Given the description of an element on the screen output the (x, y) to click on. 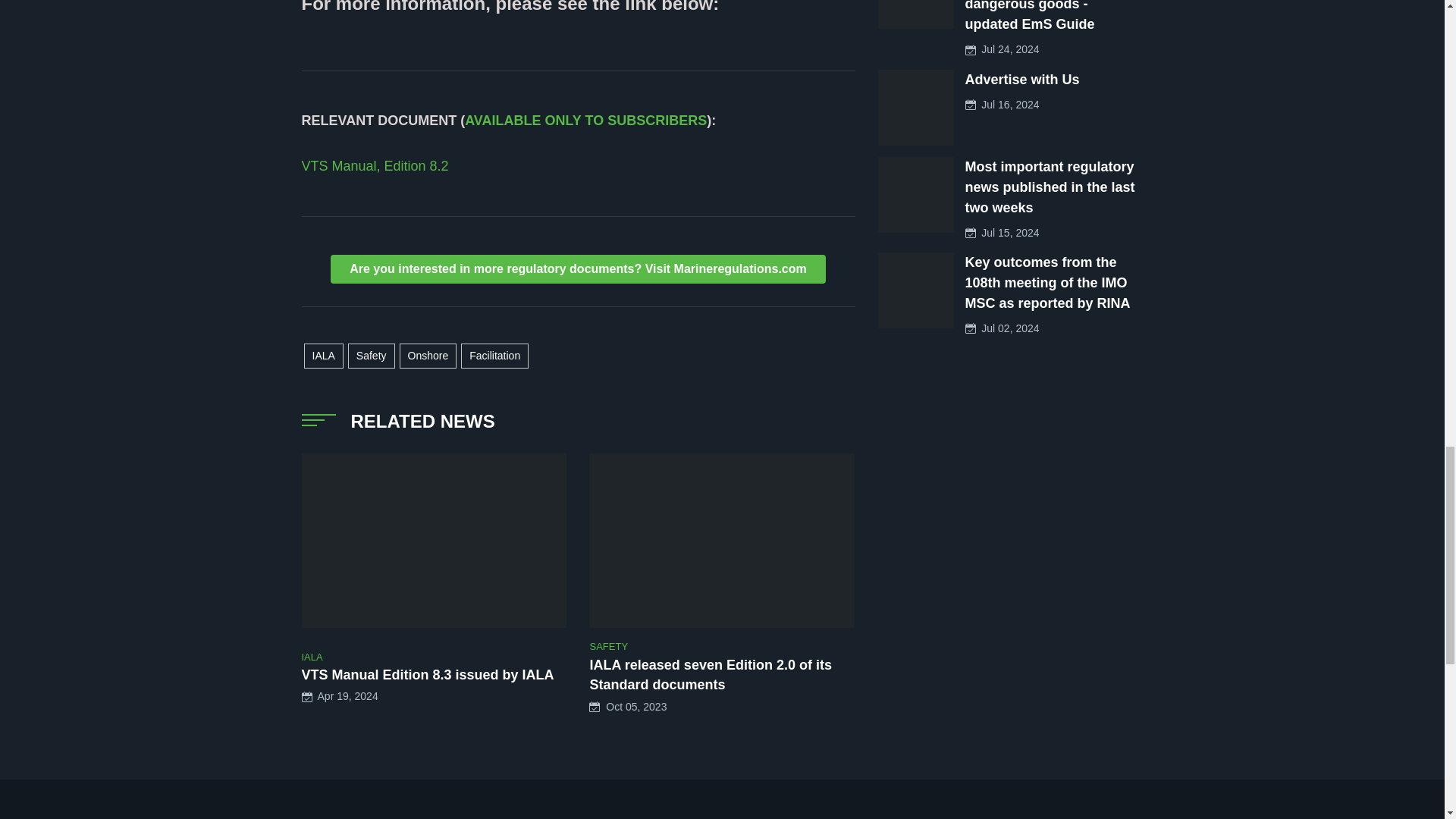
AVAILABLE ONLY TO SUBSCRIBERS (585, 120)
Facilitation (494, 355)
Onshore (427, 355)
Safety (370, 355)
VTS Manual, Edition 8.2 (374, 165)
IALA (322, 355)
